Given the description of an element on the screen output the (x, y) to click on. 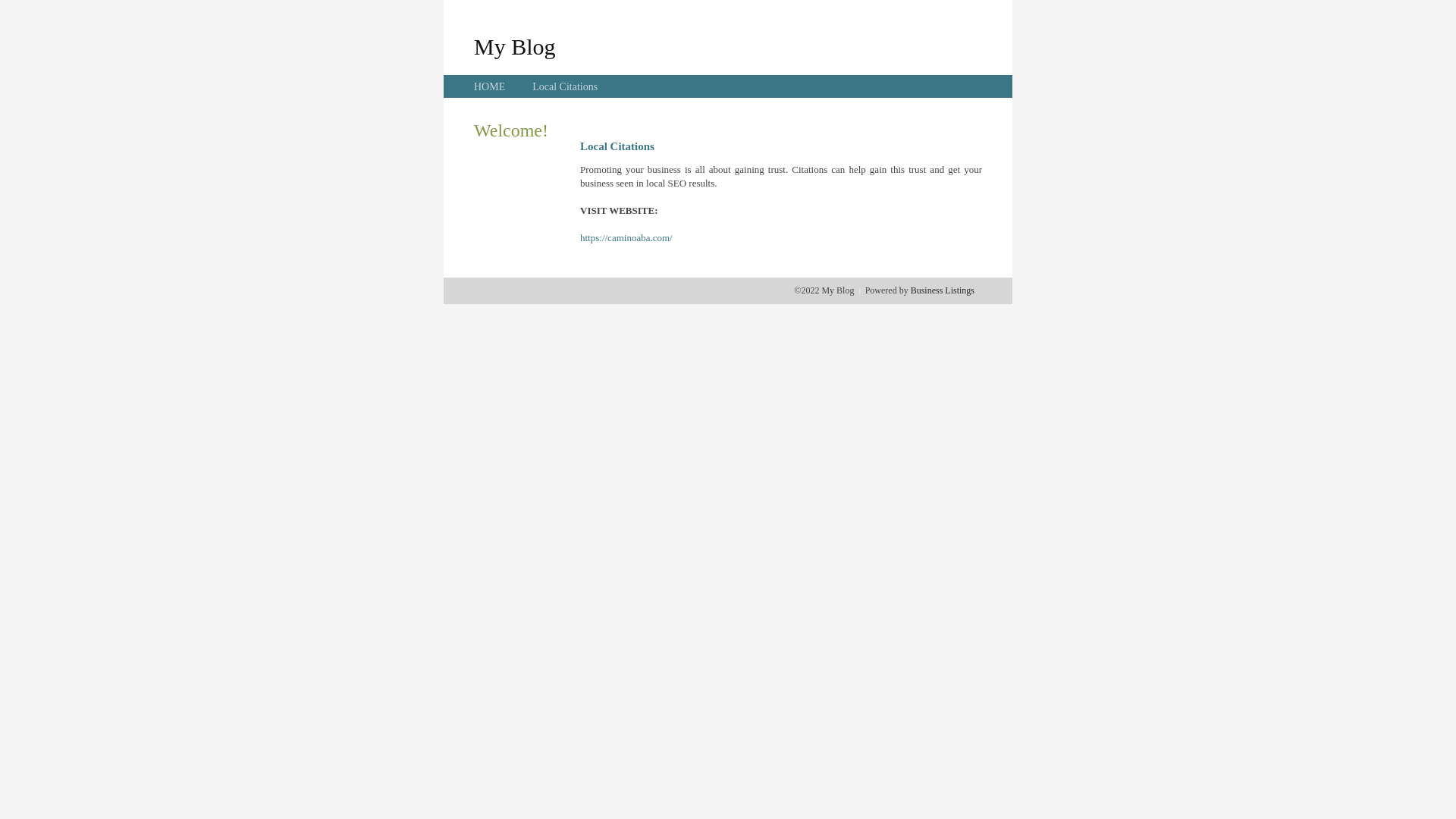
Local Citations Element type: text (564, 86)
HOME Element type: text (489, 86)
https://caminoaba.com/ Element type: text (626, 237)
Business Listings Element type: text (942, 290)
My Blog Element type: text (514, 46)
